Given the description of an element on the screen output the (x, y) to click on. 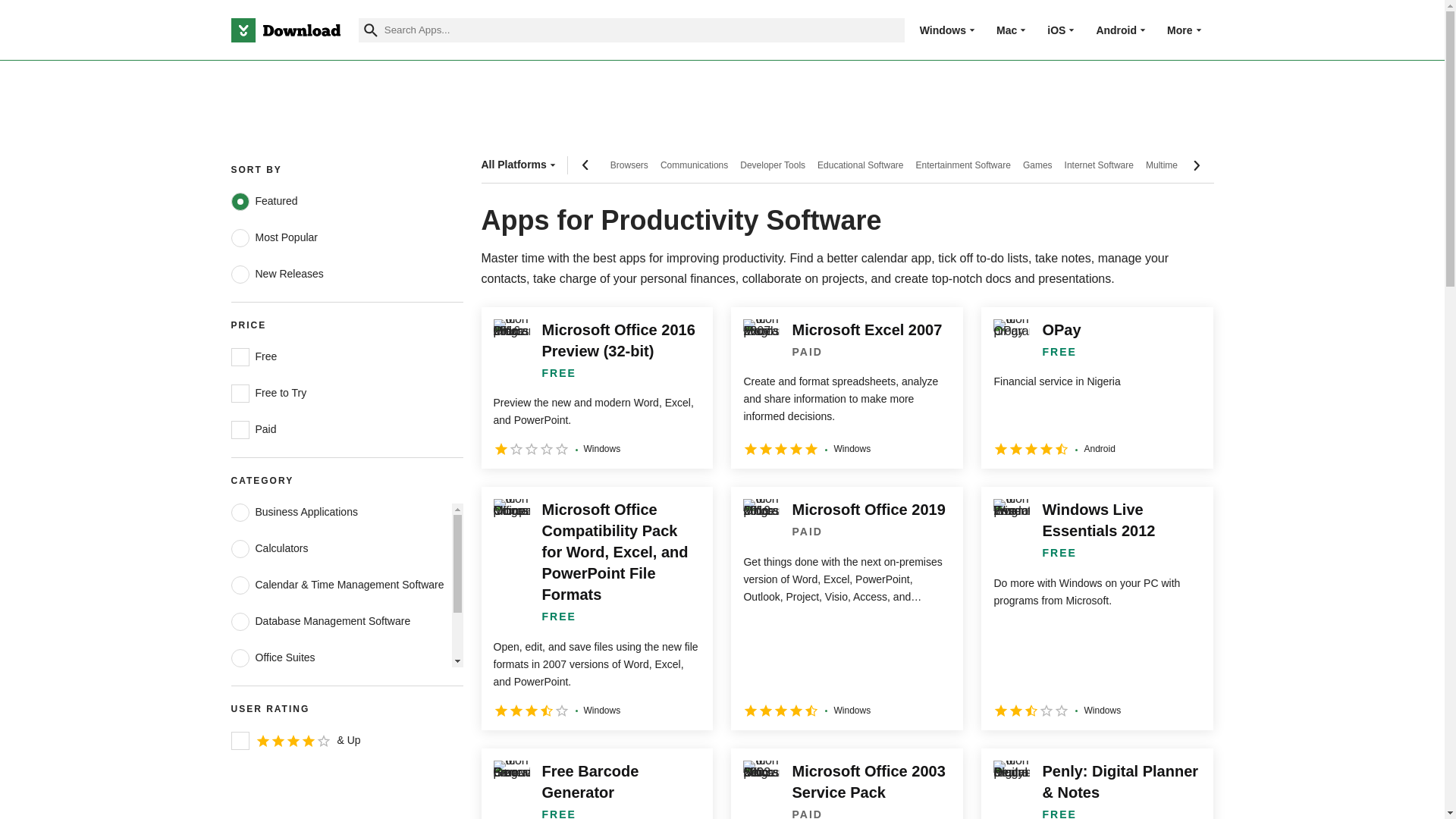
newReleases (239, 274)
paid (239, 429)
OPay (1096, 387)
free (239, 357)
utilities-calculators (239, 548)
productivity-calenders-planners (239, 585)
Microsoft Office 2003 Service Pack (846, 783)
mostPopular (239, 238)
Microsoft Office 2019 (846, 607)
featured (239, 201)
